Given the description of an element on the screen output the (x, y) to click on. 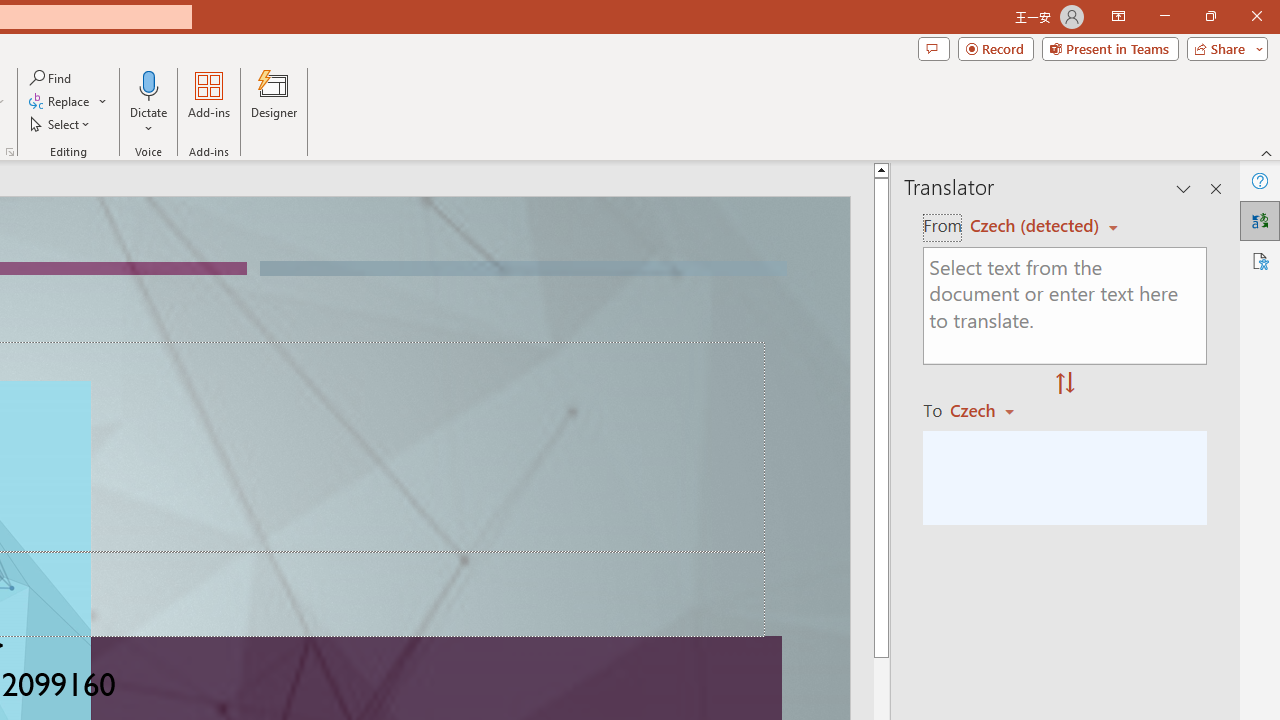
Swap "from" and "to" languages. (1065, 383)
Designer (274, 102)
Find... (51, 78)
Czech (detected) (1037, 225)
Close pane (1215, 188)
Line up (880, 169)
